Given the description of an element on the screen output the (x, y) to click on. 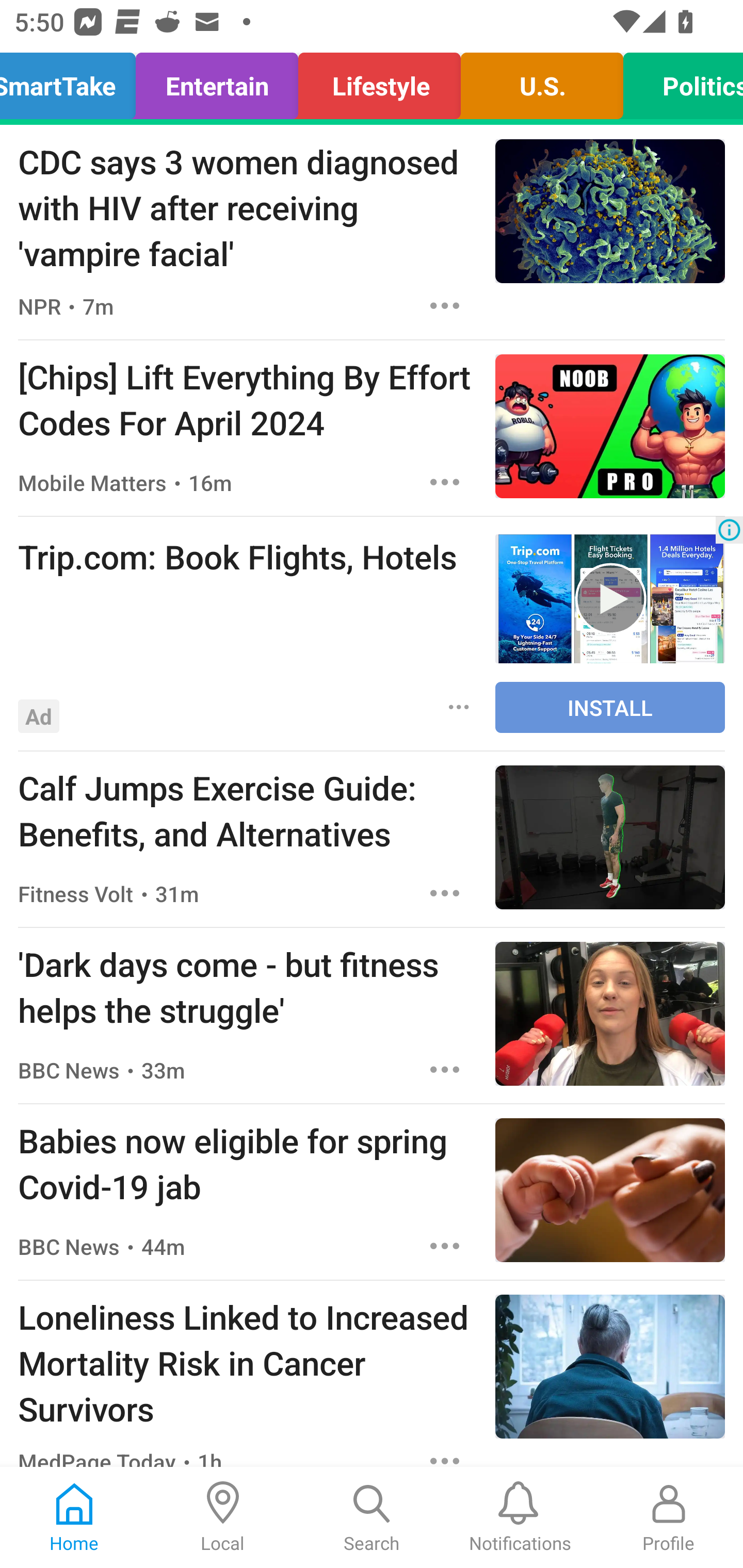
SmartTake (73, 81)
Entertain (216, 81)
Lifestyle (379, 81)
U.S. (541, 81)
Politics (677, 81)
Options (444, 305)
Options (444, 481)
Ad Choices Icon (729, 529)
Trip.com: Book Flights, Hotels (247, 556)
INSTALL (610, 707)
Options (459, 706)
Options (444, 893)
Options (444, 1069)
Options (444, 1246)
Options (444, 1453)
Local (222, 1517)
Search (371, 1517)
Notifications (519, 1517)
Profile (668, 1517)
